Given the description of an element on the screen output the (x, y) to click on. 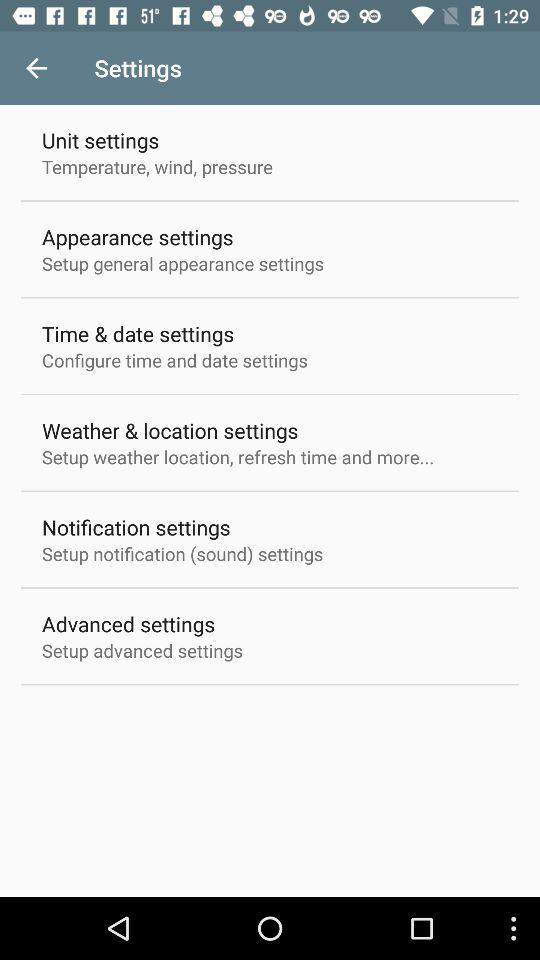
select the icon below unit settings (157, 166)
